Given the description of an element on the screen output the (x, y) to click on. 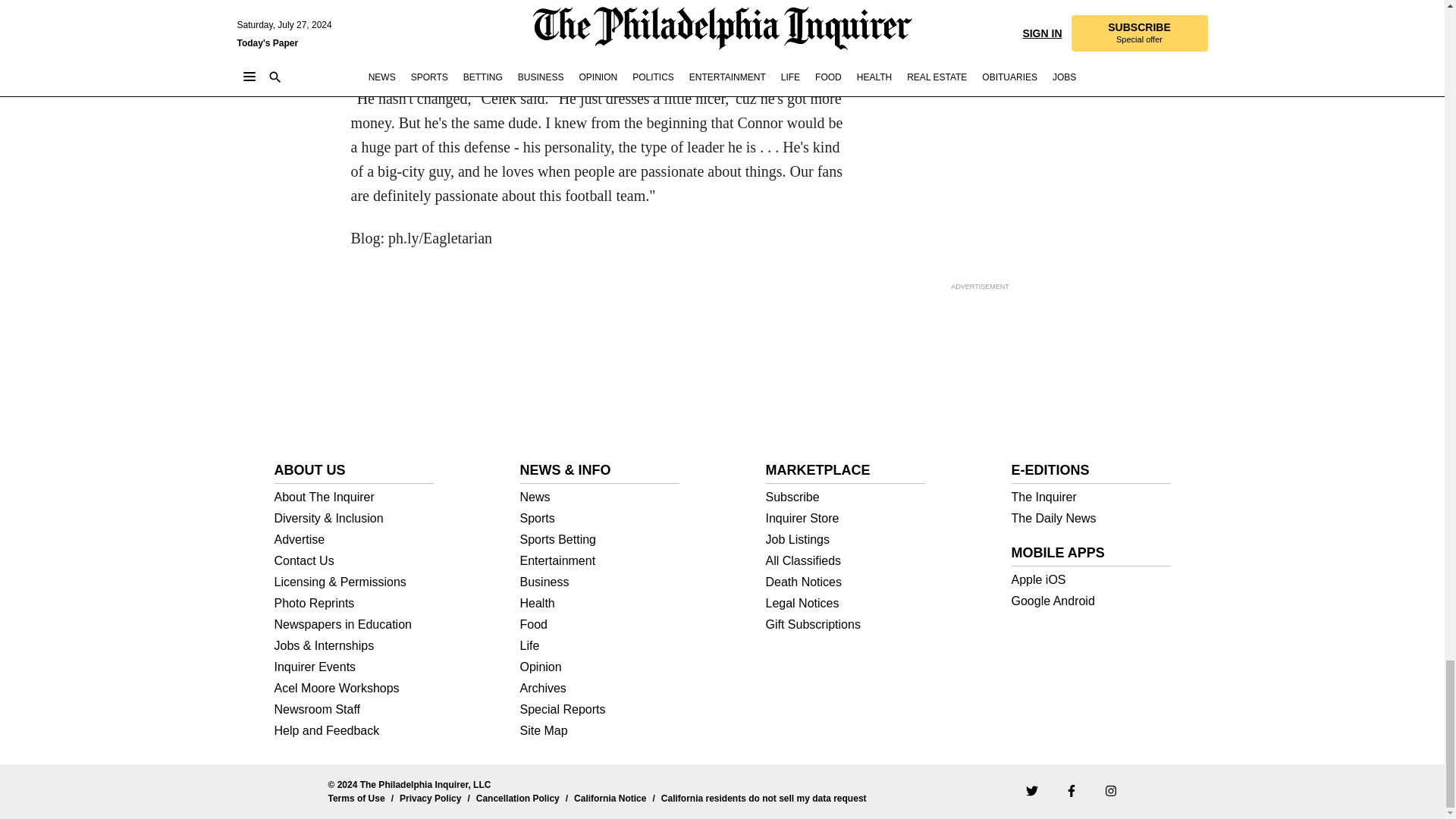
Facebook (1070, 790)
Instagram (1109, 790)
Twitter (1030, 790)
Contact Us (354, 561)
About The Inquirer (354, 497)
Advertise (354, 539)
